Given the description of an element on the screen output the (x, y) to click on. 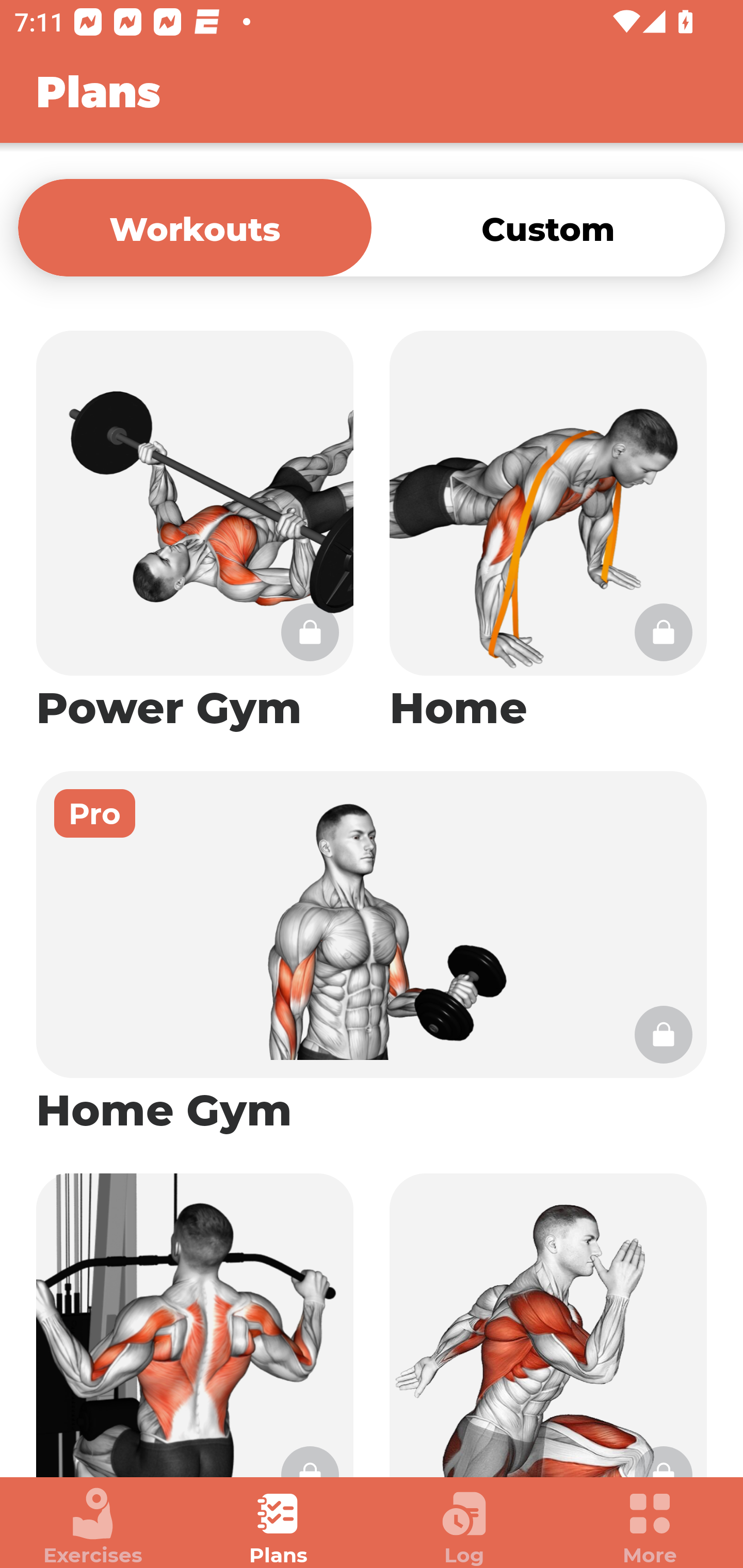
Workouts (194, 226)
Custom (548, 226)
Power Gym (194, 532)
Home (548, 532)
Pro Home Gym (371, 953)
Exercises (92, 1527)
Plans (278, 1527)
Log (464, 1527)
More (650, 1527)
